Given the description of an element on the screen output the (x, y) to click on. 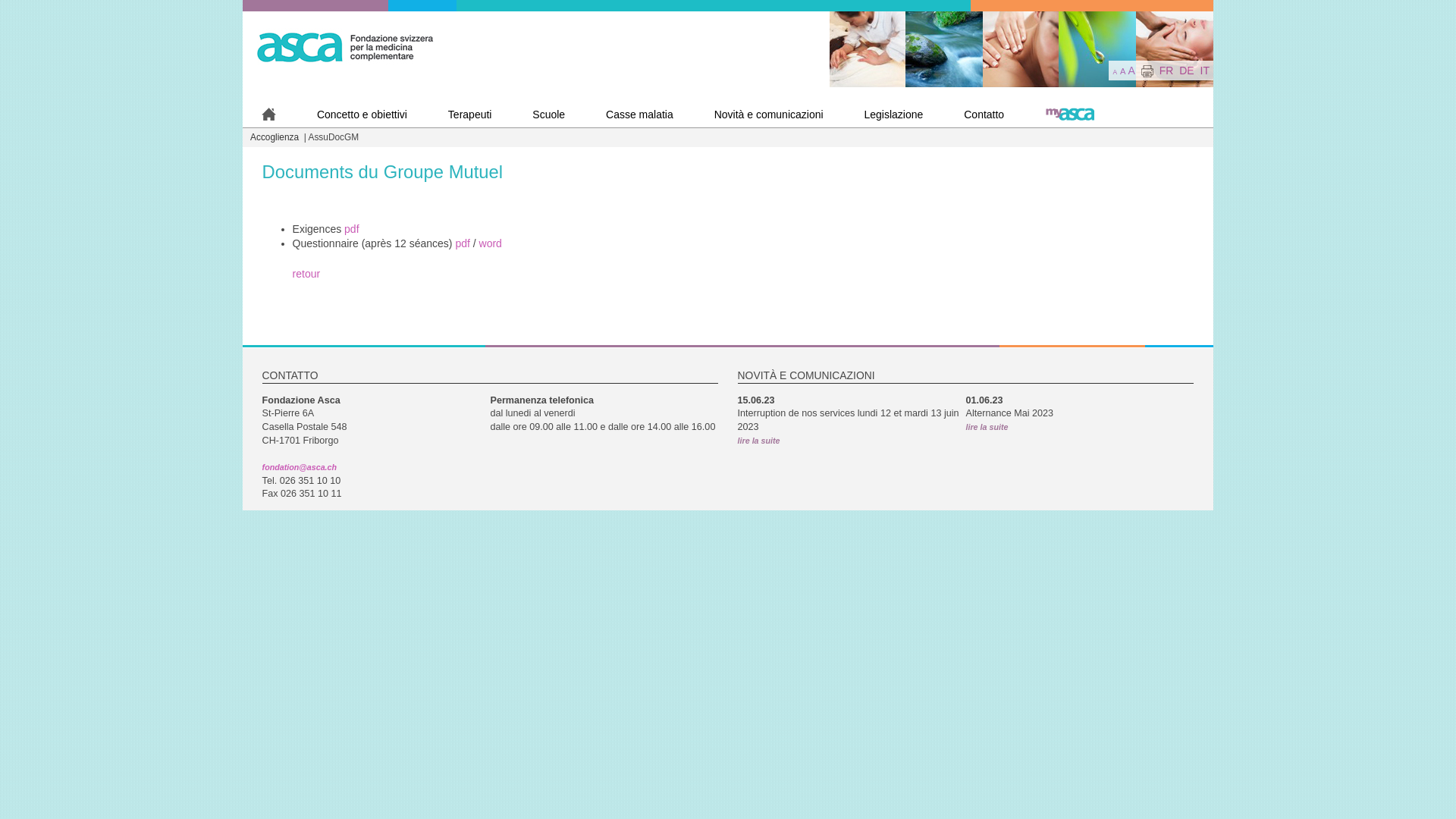
Terapeuti Element type: text (470, 114)
pdf Element type: text (462, 243)
fondation@asca.ch Element type: text (299, 466)
A Element type: text (1122, 70)
Legislazione Element type: text (892, 114)
Casse malatia Element type: text (639, 114)
Contatto Element type: text (983, 114)
lire la suite Element type: text (758, 440)
banner Element type: hover (1021, 49)
DE Element type: text (1186, 69)
retour Element type: text (306, 273)
FR Element type: text (1166, 69)
Accoglienza Element type: text (275, 136)
word Element type: text (490, 243)
A Element type: text (1114, 71)
lire la suite Element type: text (987, 426)
IT Element type: text (1204, 69)
Scuole Element type: text (548, 114)
pdf Element type: text (351, 228)
Concetto e obiettivi Element type: text (362, 114)
A Element type: text (1131, 69)
